Given the description of an element on the screen output the (x, y) to click on. 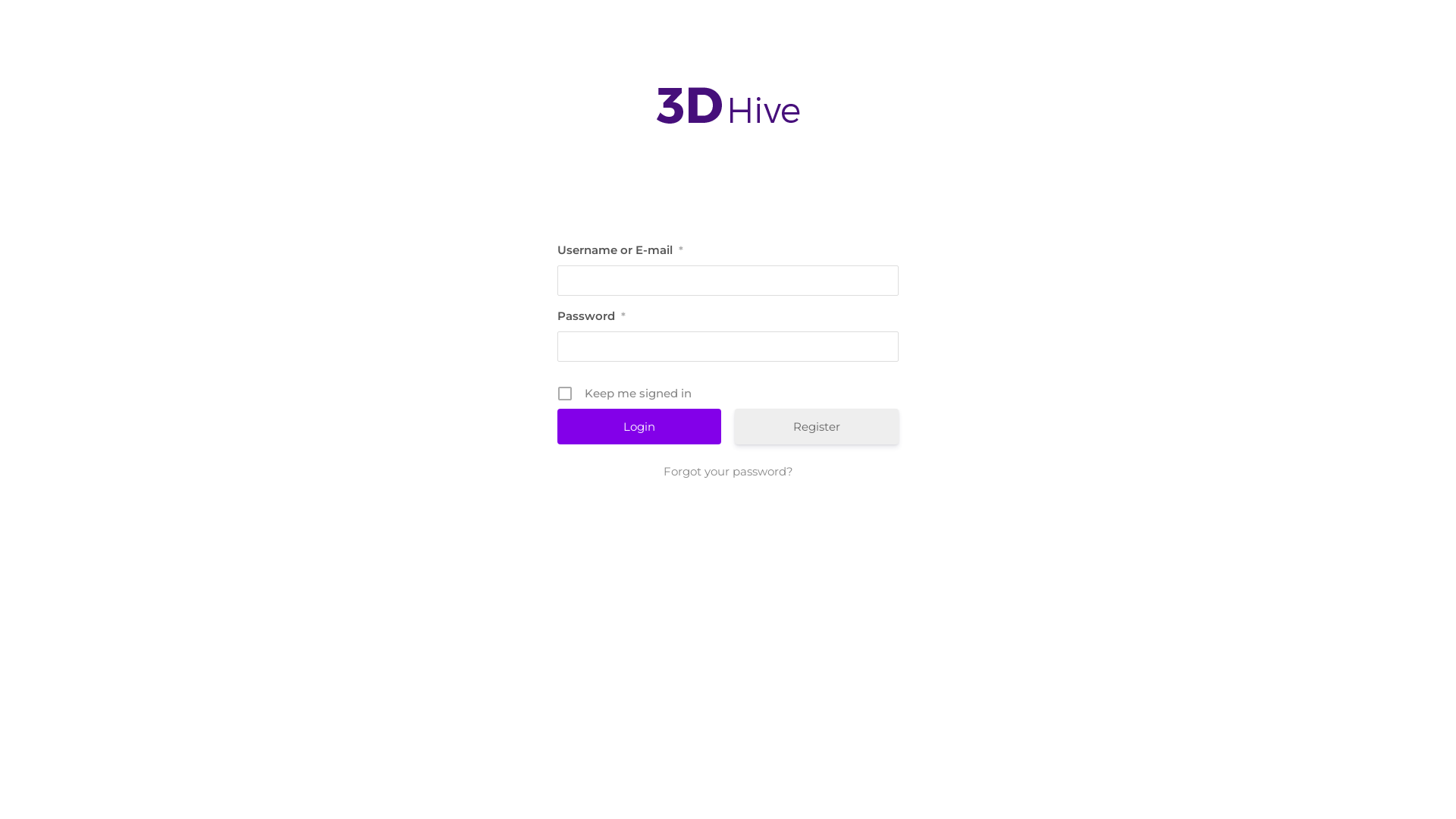
Register Element type: text (816, 426)
Login Element type: text (639, 426)
Forgot your password? Element type: text (727, 471)
